Given the description of an element on the screen output the (x, y) to click on. 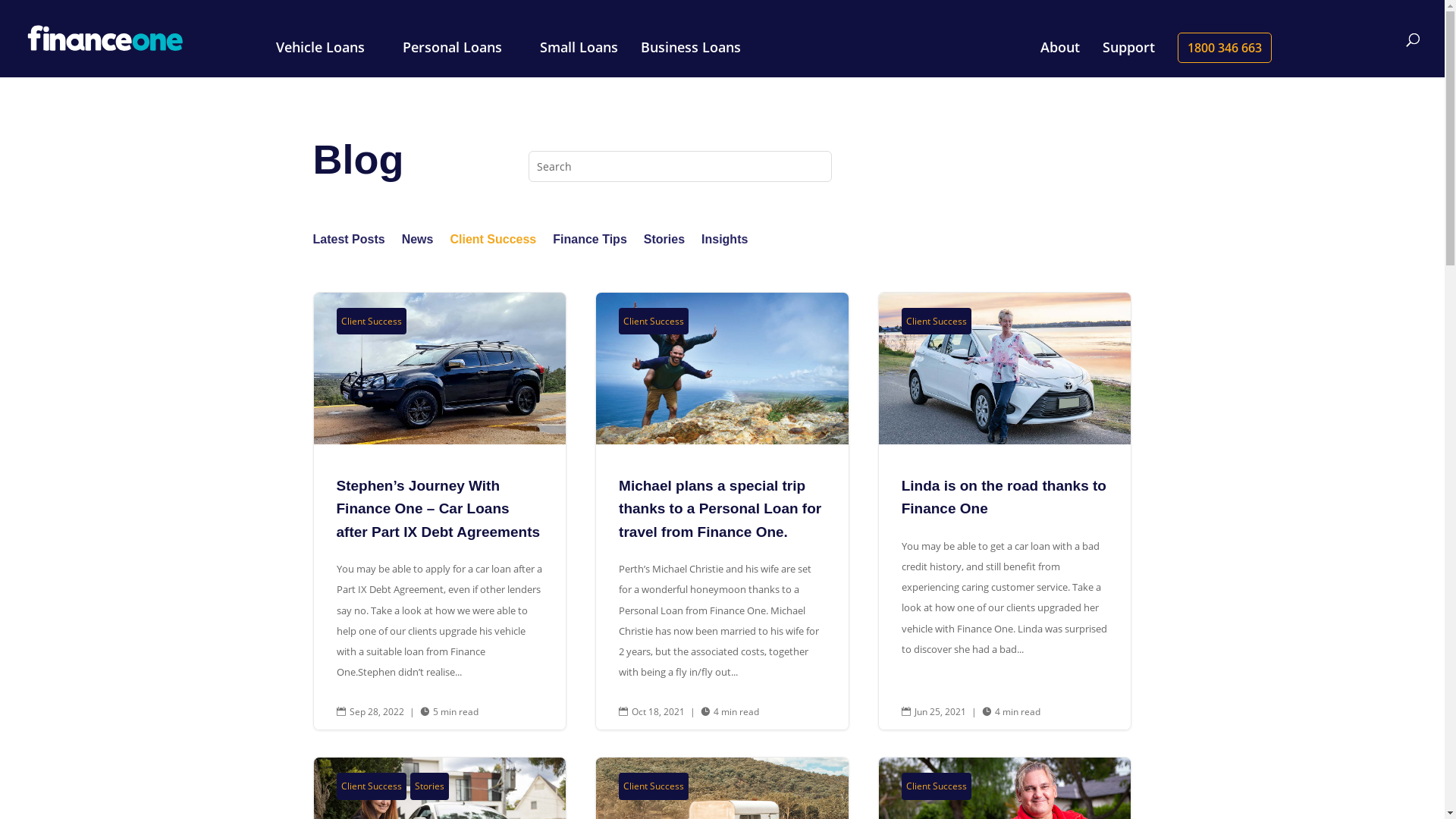
News Element type: text (417, 242)
About Element type: text (1059, 59)
Search Element type: text (25, 14)
Latest Posts Element type: text (348, 242)
Client Success Element type: text (653, 320)
Small Loans Element type: text (578, 59)
Client Success Element type: text (653, 785)
Support Element type: text (1128, 59)
Finance Tips Element type: text (589, 242)
Linda is on the road thanks to Finance One Element type: text (1003, 496)
Client Success Element type: text (936, 785)
Stories Element type: text (428, 785)
1800 346 663 Element type: text (1224, 47)
Client Success Element type: text (936, 320)
Client Success Element type: text (371, 320)
Client Success Element type: text (492, 242)
Stories Element type: text (663, 242)
Vehicle Loans Element type: text (327, 59)
Personal Loans Element type: text (459, 59)
Client Success Element type: text (371, 785)
Insights Element type: text (724, 242)
Business Loans Element type: text (698, 59)
